Given the description of an element on the screen output the (x, y) to click on. 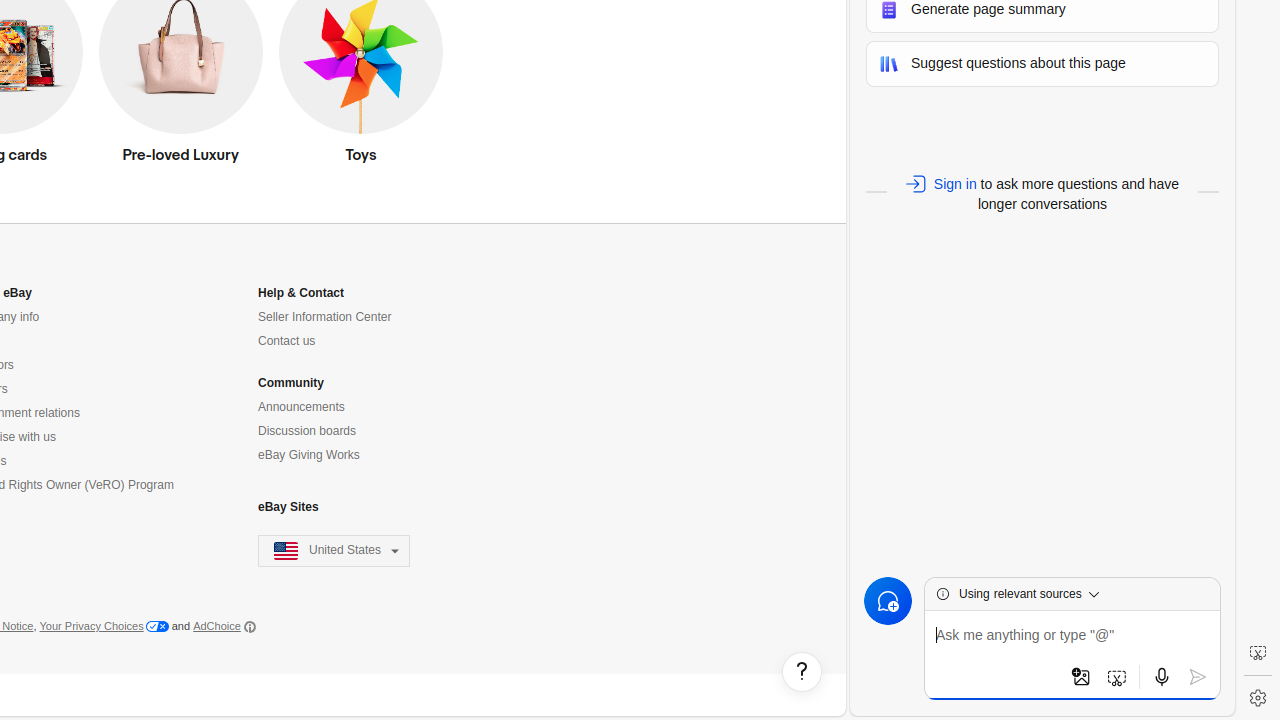
Screenshot Element type: push-button (1258, 653)
eBay Giving Works Element type: link (309, 455)
AdChoice Element type: link (224, 627)
Use microphone Element type: toggle-button (1162, 677)
